Given the description of an element on the screen output the (x, y) to click on. 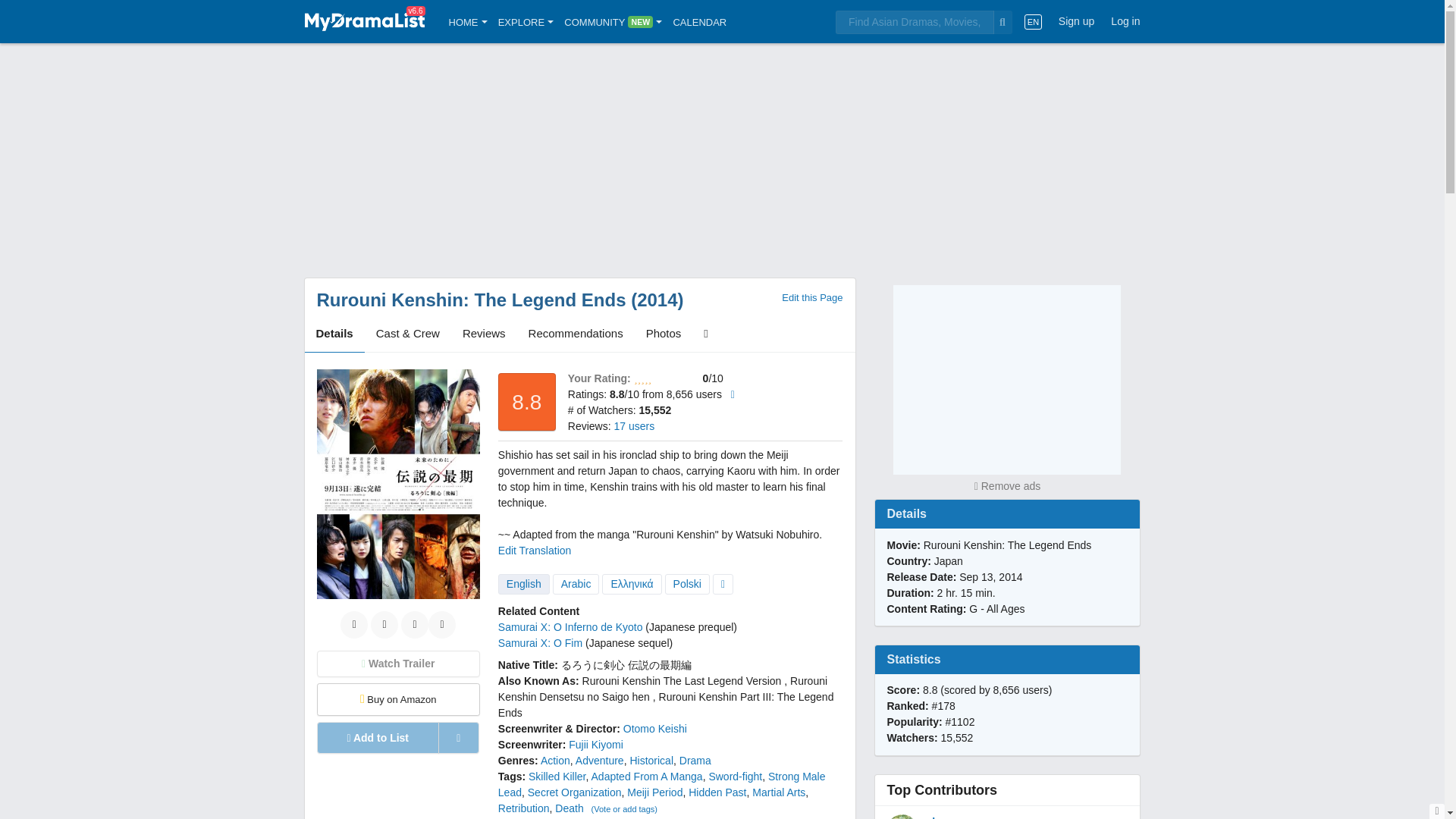
Samurai X: O Fim (539, 643)
HOME (467, 21)
Rurouni Kenshin Part III: The Legend Ends (665, 705)
Rurouni Kenshin Densetsu no Saigo hen (662, 688)
Rurouni Kenshin The Last Legend Version (681, 680)
Rurouni Kenshin: The Legend Ends (471, 299)
Samurai X: O Inferno de Kyoto (570, 626)
v6.6 (364, 21)
